Given the description of an element on the screen output the (x, y) to click on. 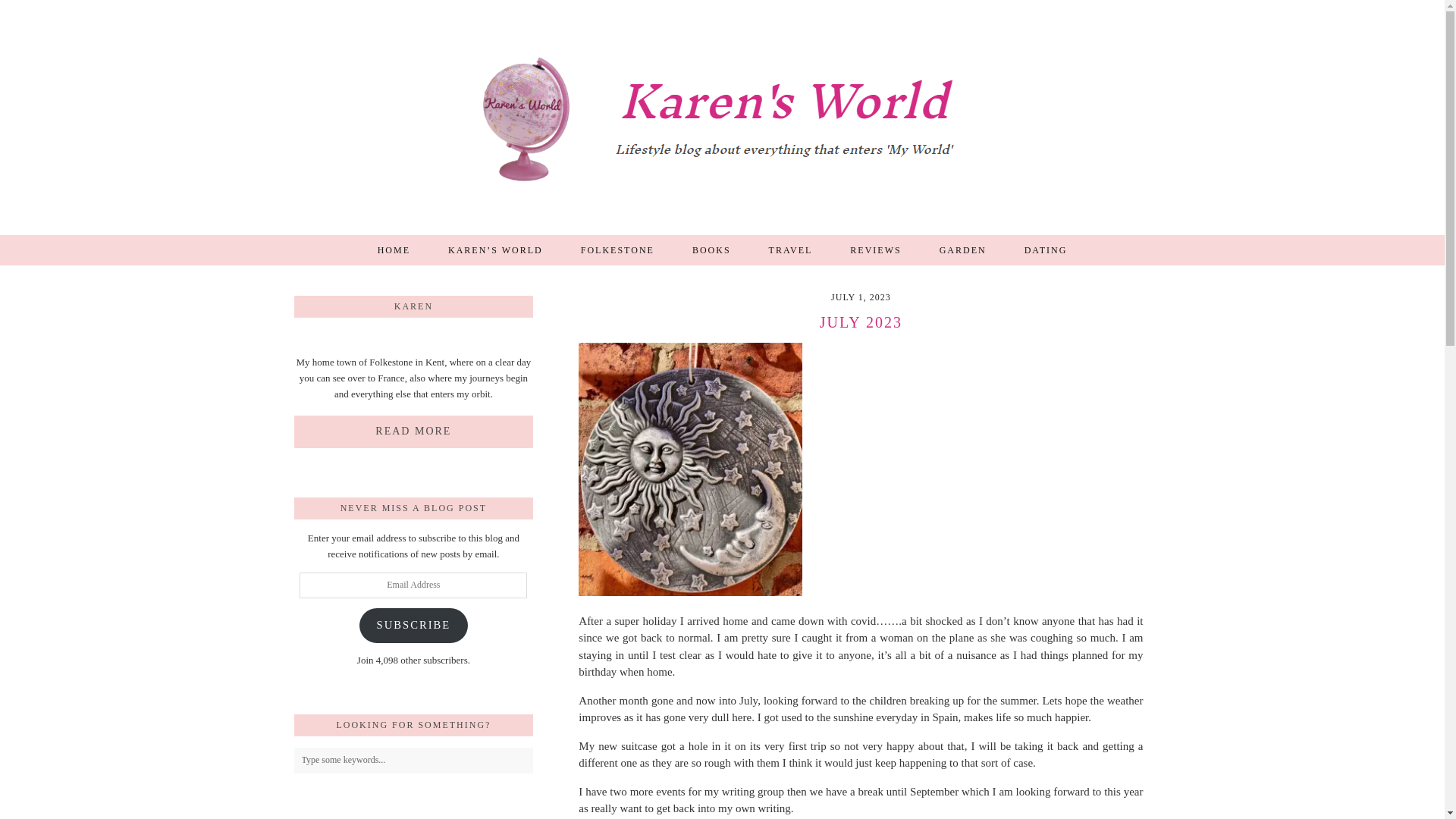
GARDEN (963, 250)
BOOKS (710, 250)
Karen's World (722, 121)
FOLKESTONE (617, 250)
REVIEWS (875, 250)
DATING (1046, 250)
HOME (393, 250)
TRAVEL (790, 250)
